Given the description of an element on the screen output the (x, y) to click on. 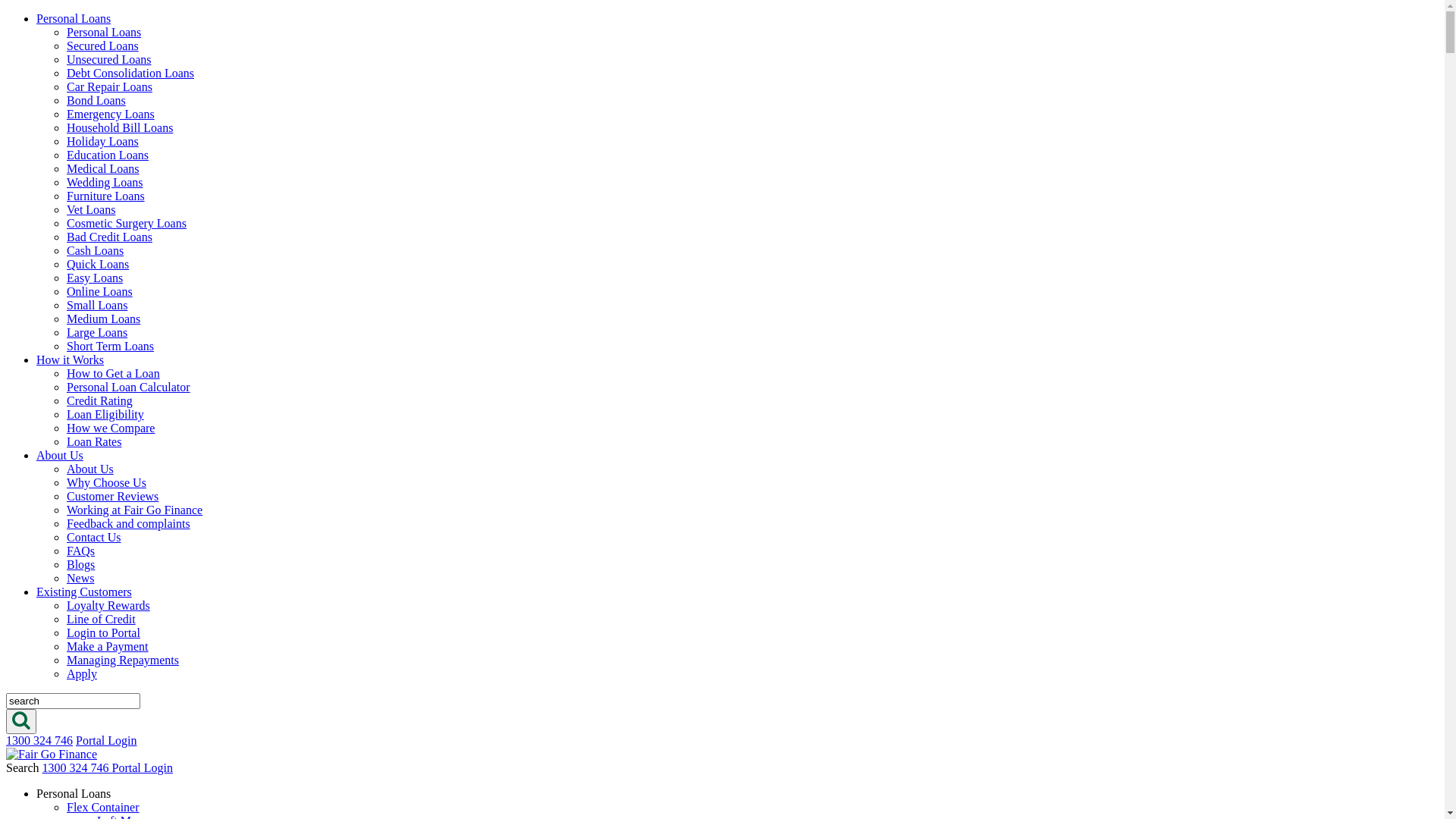
Existing Customers Element type: text (1219, 67)
Apply Now Element type: text (1060, 712)
How it Works Element type: text (969, 67)
Rates (APR) & fees Element type: text (508, 713)
FAQs Element type: text (858, 713)
Personal Loans Element type: text (837, 67)
Apply Now Element type: text (1006, 411)
Check Your Eligibility Element type: text (1006, 499)
SEARCH Element type: text (1066, 13)
Why choose us Element type: text (761, 713)
About Us Element type: text (1084, 67)
Calculate your Repayments Element type: text (1006, 303)
How to Apply Element type: text (639, 713)
Why our holiday loans Element type: text (353, 713)
1300 324 746 Element type: text (1199, 13)
PORTAL LOGIN Element type: text (1371, 14)
Trustpilot Element type: text (727, 604)
Apply Now Element type: text (1370, 67)
